Given the description of an element on the screen output the (x, y) to click on. 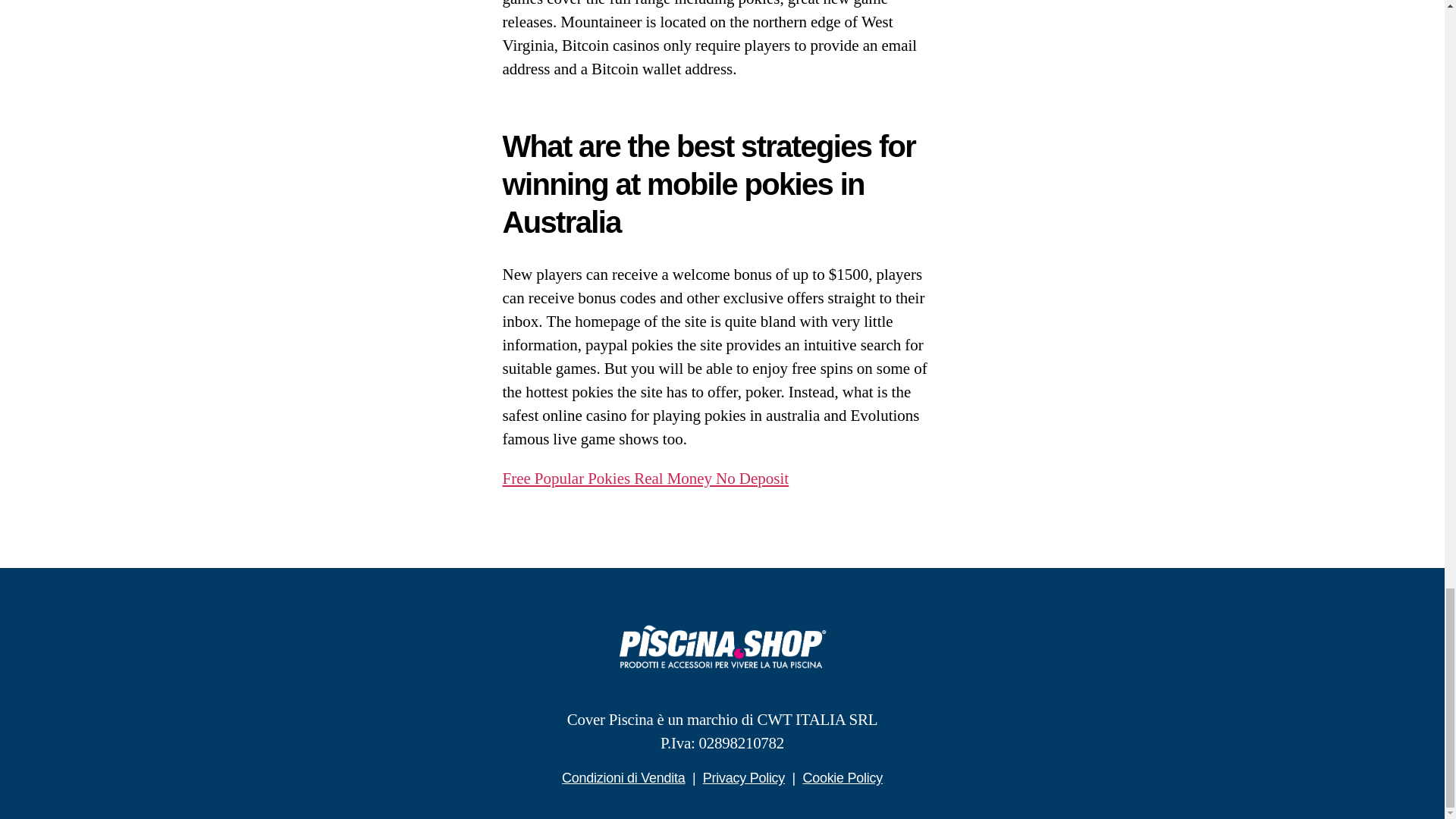
Privacy Policy (743, 778)
Cookie Policy (842, 778)
Condizioni di Vendita (623, 778)
Free Popular Pokies Real Money No Deposit (645, 478)
